Given the description of an element on the screen output the (x, y) to click on. 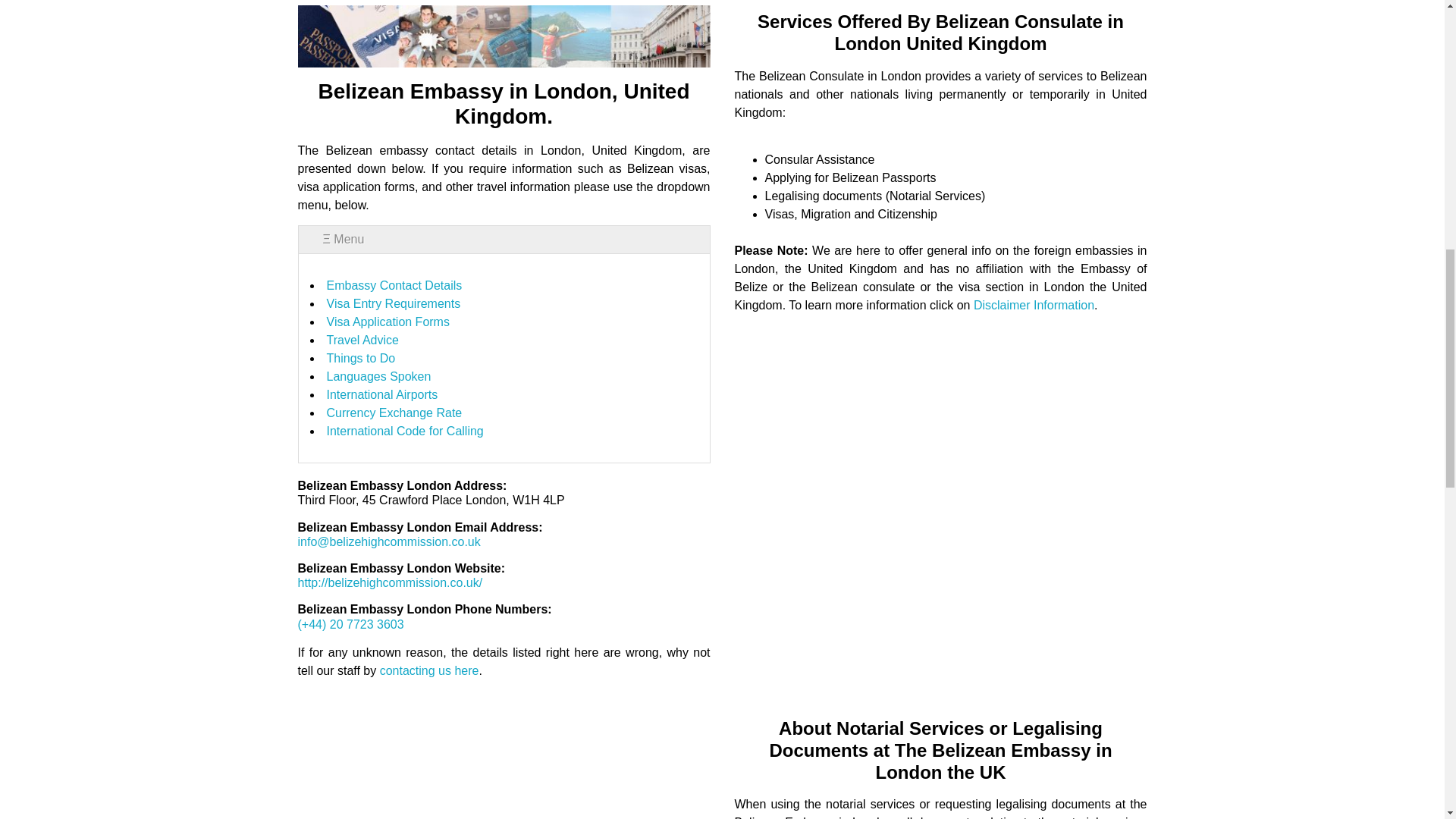
Currency Exchange Rate (393, 412)
Visa Entry Requirements (393, 303)
Embassy Contact Details (393, 285)
International Airports (382, 394)
Languages Spoken (378, 376)
International Code for Calling (404, 431)
Travel Advice (361, 339)
Visa Application Forms (387, 321)
contacting us here (429, 670)
Disclaimer Information (1034, 305)
